Given the description of an element on the screen output the (x, y) to click on. 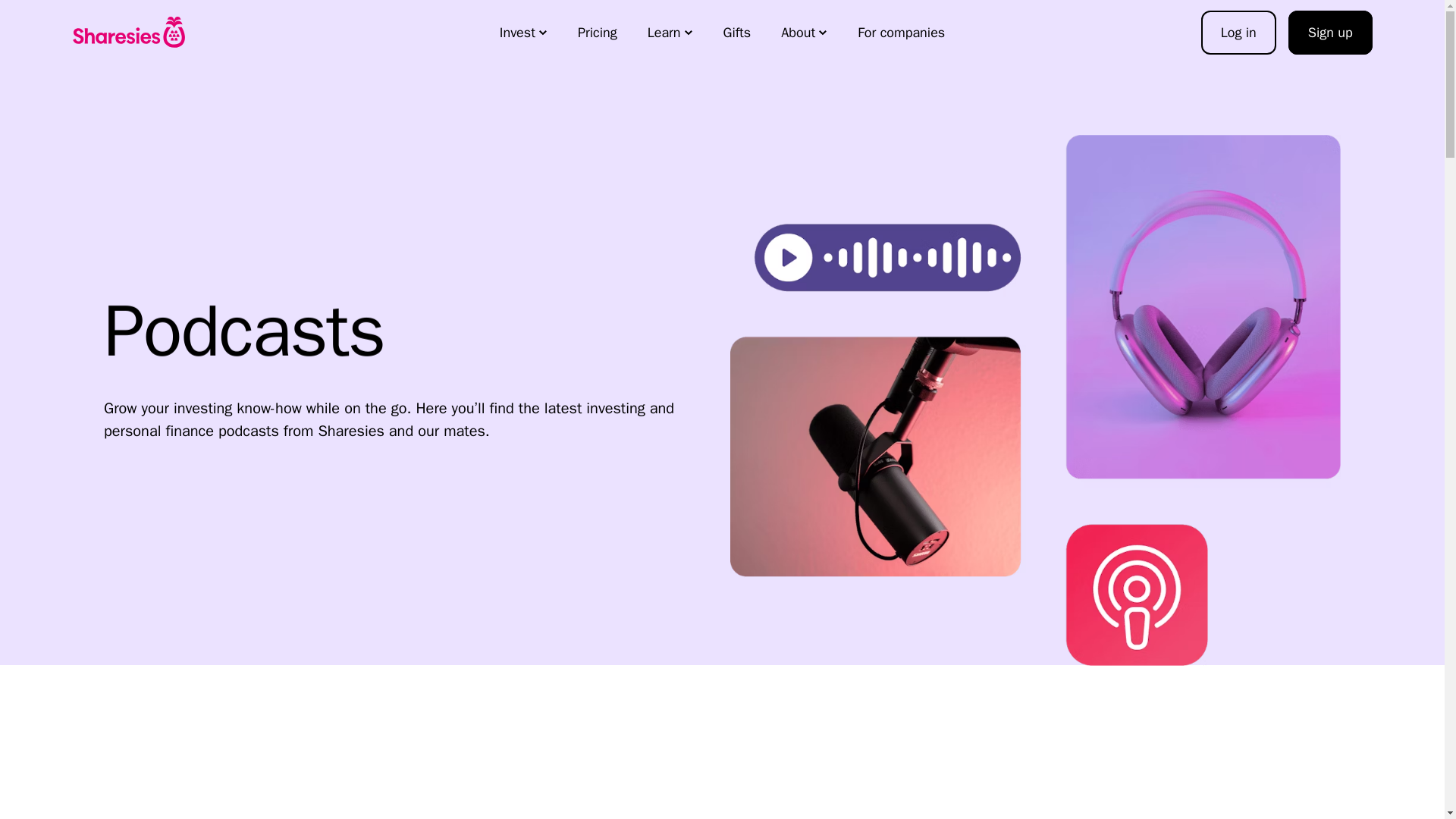
Sharesies home page (128, 31)
Invest (523, 32)
